Given the description of an element on the screen output the (x, y) to click on. 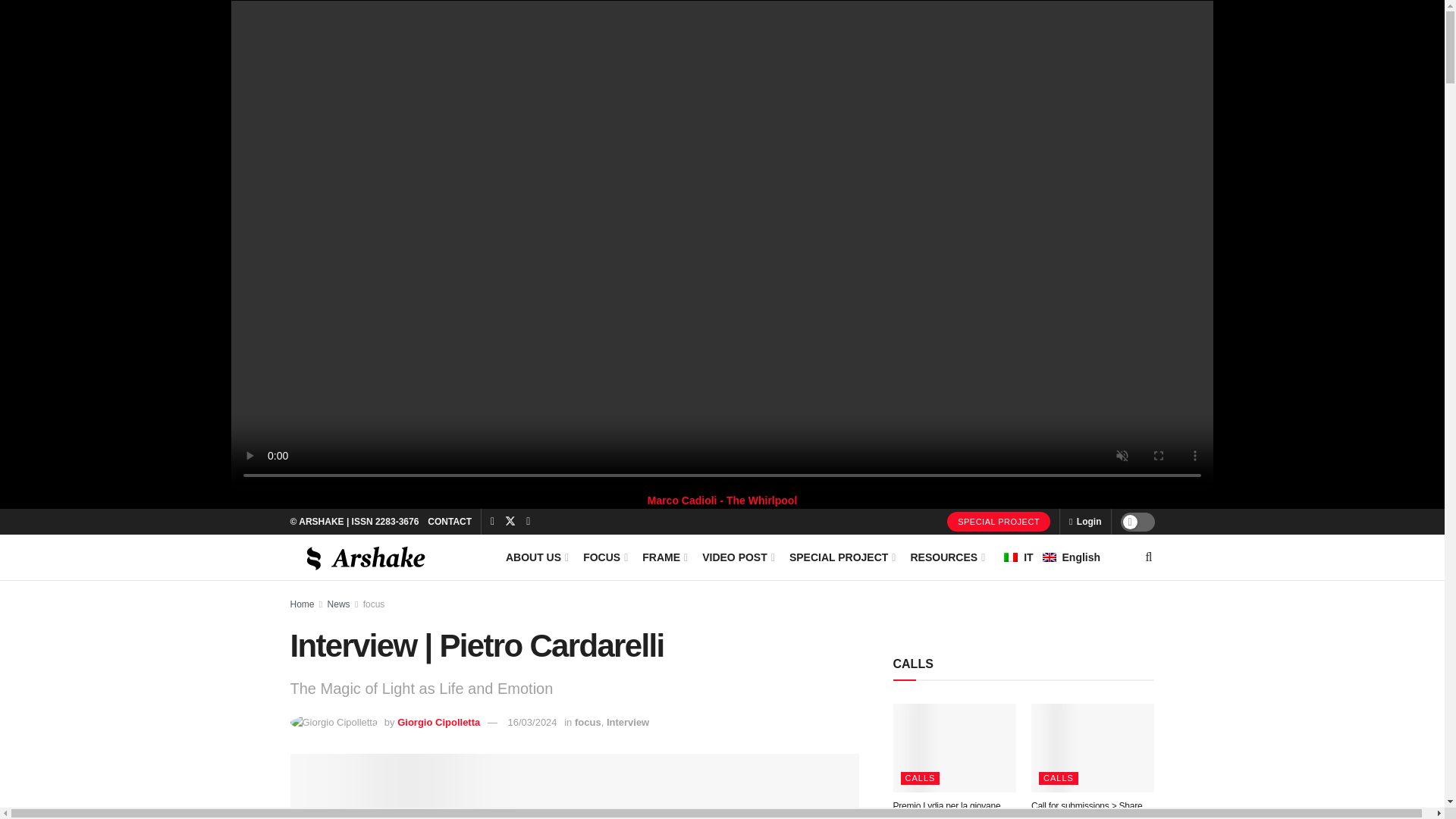
ABOUT US (535, 557)
Login (1084, 521)
Marco Cadioli - The Whirlpool (722, 500)
CONTACT (449, 521)
SPECIAL PROJECT (998, 521)
IT (1010, 556)
English (1049, 556)
FOCUS (604, 557)
FRAME (663, 557)
